Given the description of an element on the screen output the (x, y) to click on. 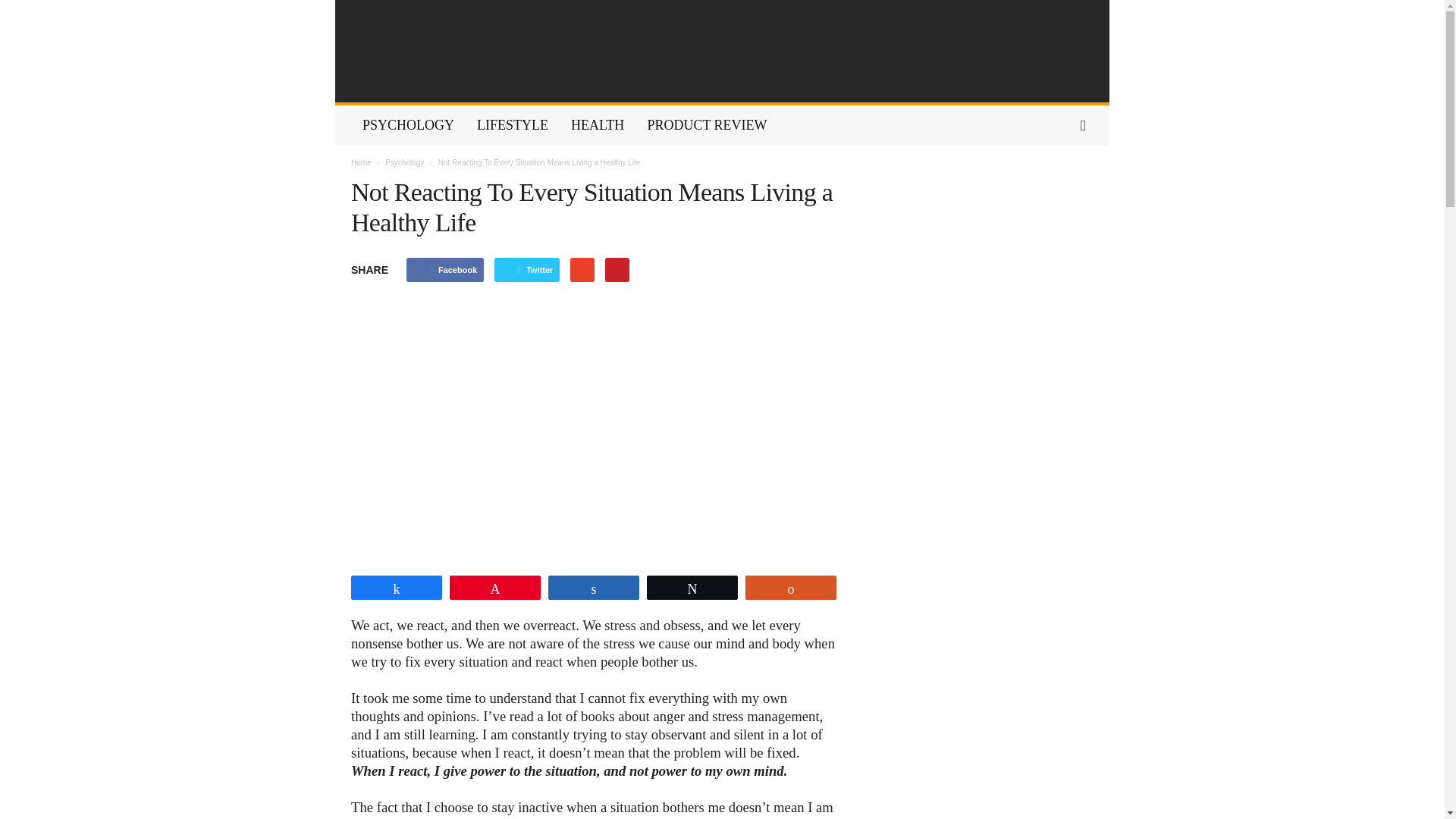
The Power Of Silence (721, 51)
HEALTH (596, 125)
LIFESTYLE (512, 125)
Facebook (444, 269)
View all posts in Psychology (405, 162)
Psychology (405, 162)
PSYCHOLOGY (407, 125)
Twitter (527, 269)
PRODUCT REVIEW (705, 125)
Home (360, 162)
